Given the description of an element on the screen output the (x, y) to click on. 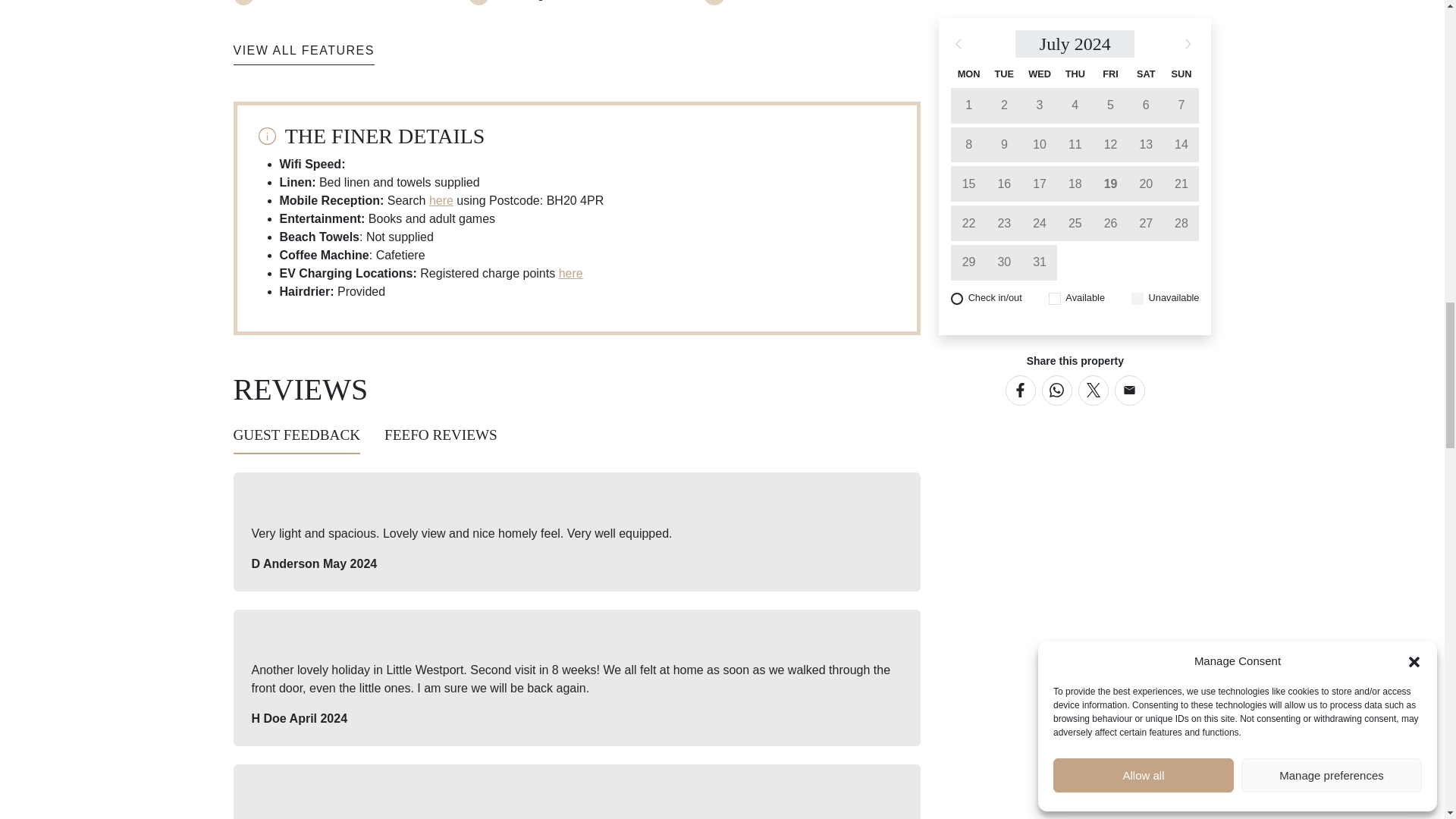
Bed Linen Is Provided (325, 2)
Dishwasher (768, 2)
Walking Distance To Town Centre (590, 2)
